Given the description of an element on the screen output the (x, y) to click on. 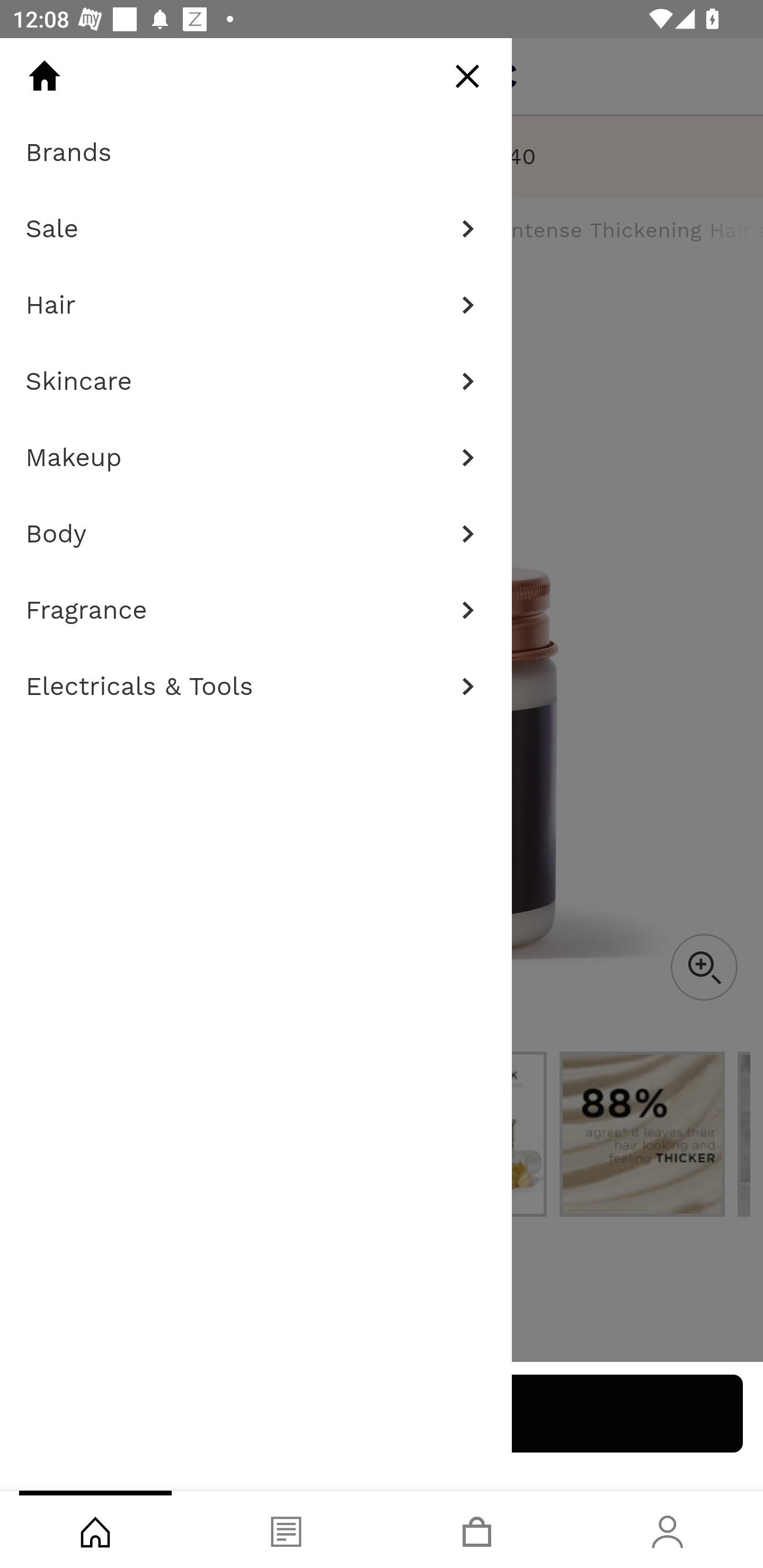
Home (44, 75)
Close Menu (467, 75)
Brands (255, 152)
Sale (255, 228)
Hair (255, 304)
Skincare (255, 381)
Makeup (255, 457)
Body (255, 533)
Fragrance (255, 610)
Electricals & Tools (255, 686)
Shop, tab, 1 of 4 (95, 1529)
Blog, tab, 2 of 4 (285, 1529)
Basket, tab, 3 of 4 (476, 1529)
Account, tab, 4 of 4 (667, 1529)
